Given the description of an element on the screen output the (x, y) to click on. 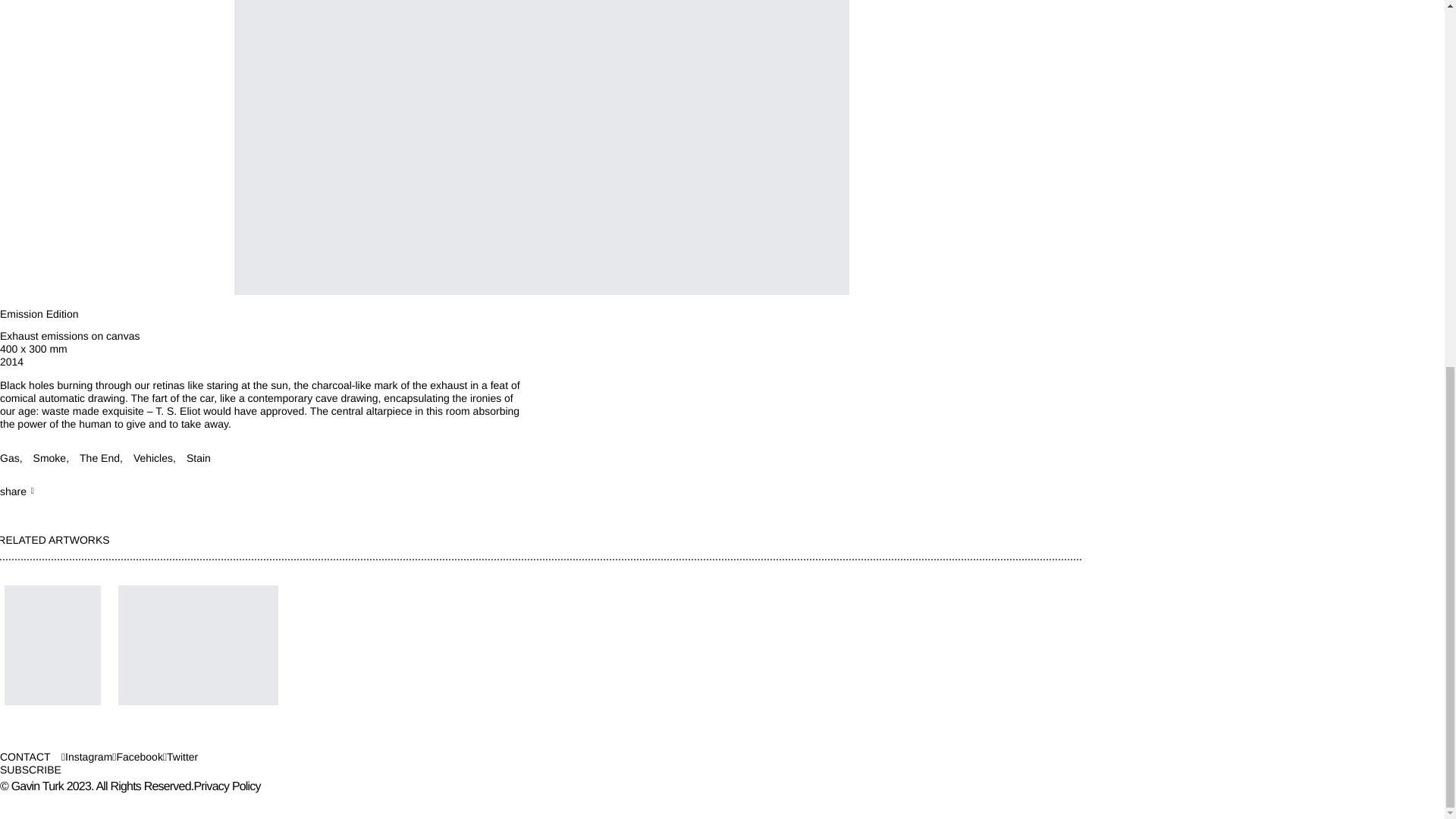
Privacy Policy (226, 786)
2014 (11, 361)
Facebook (137, 756)
Facebook (137, 756)
Smoke (50, 458)
Dimensions (541, 349)
This Is Not A Pipe (198, 645)
Gas (11, 458)
The End (101, 458)
Instagram (86, 756)
CONTACT (25, 756)
Material (541, 336)
Vehicles (154, 458)
Twitter (180, 756)
